Given the description of an element on the screen output the (x, y) to click on. 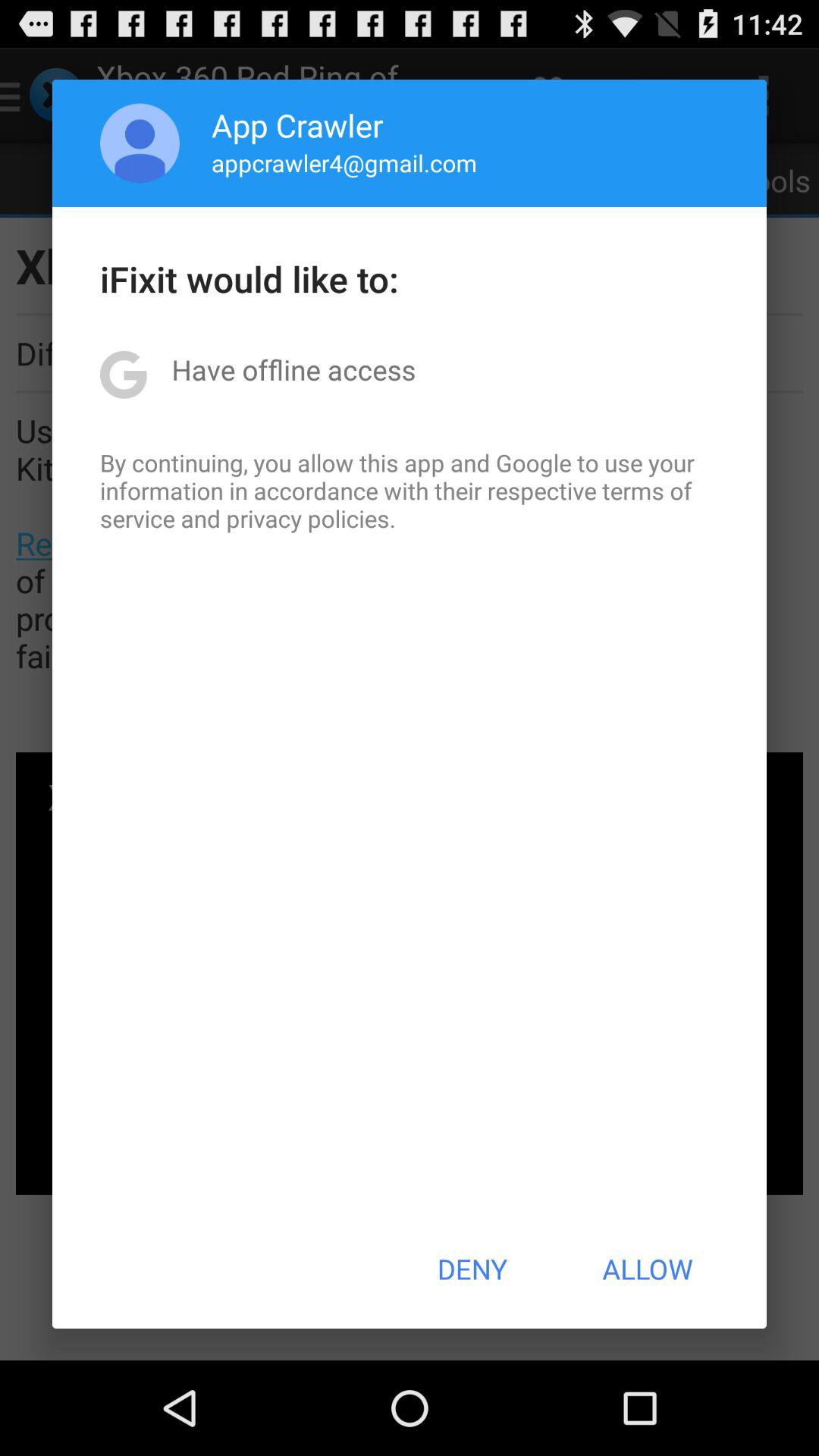
flip until the have offline access icon (293, 369)
